Given the description of an element on the screen output the (x, y) to click on. 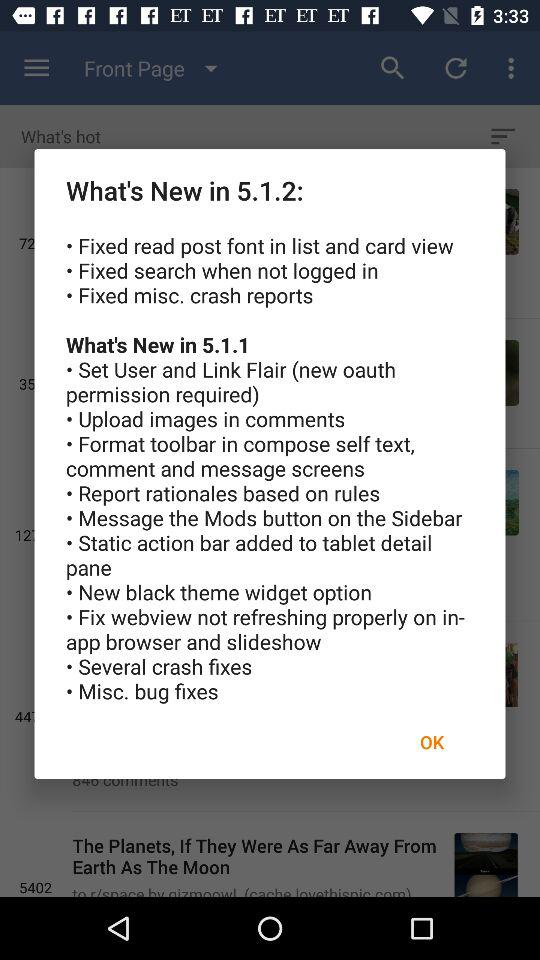
press item below fixed read post (431, 741)
